Given the description of an element on the screen output the (x, y) to click on. 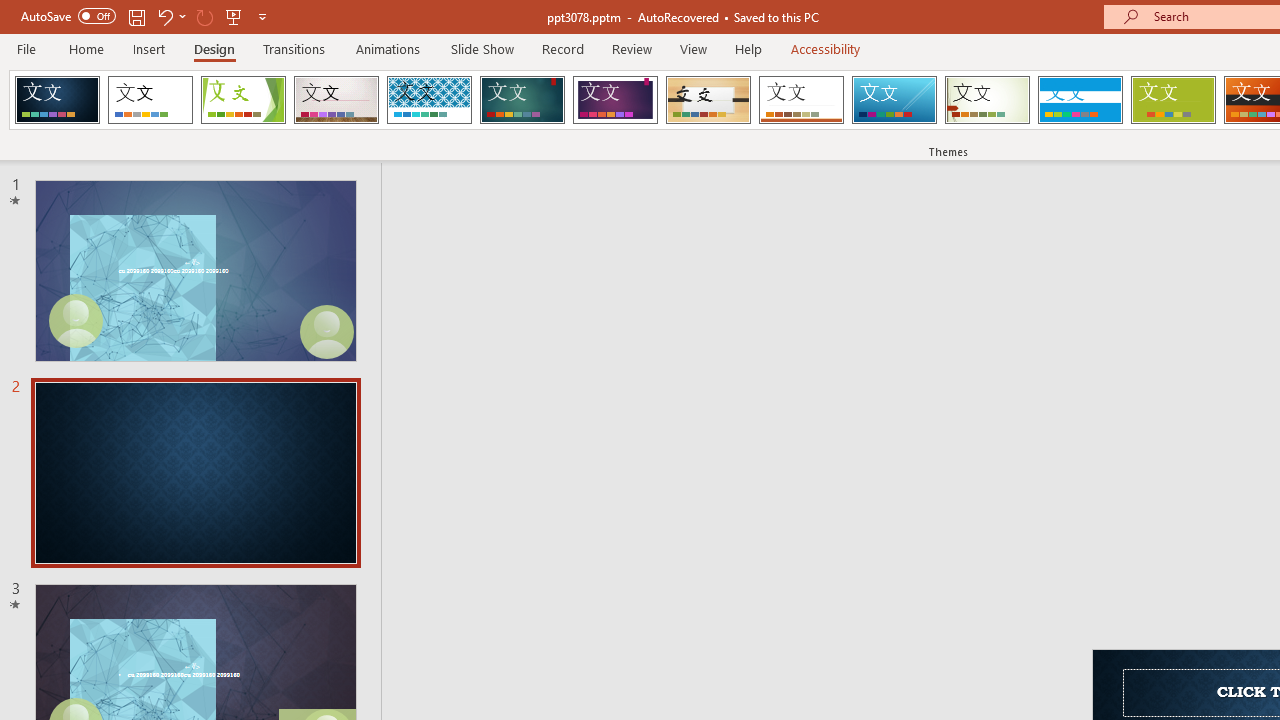
Gallery (336, 100)
Banded (1080, 100)
Organic (708, 100)
